Given the description of an element on the screen output the (x, y) to click on. 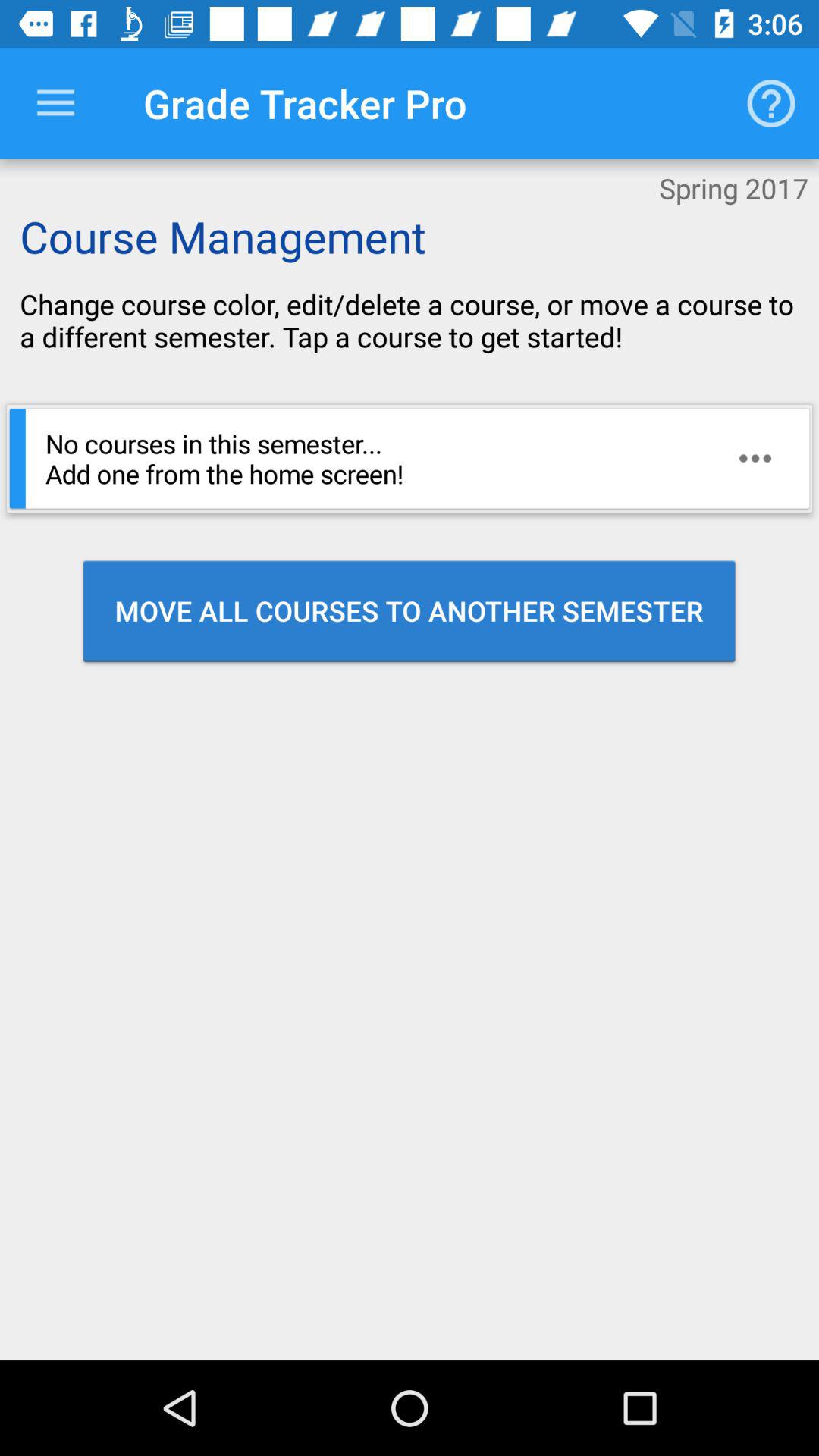
flip to move all courses (409, 610)
